Given the description of an element on the screen output the (x, y) to click on. 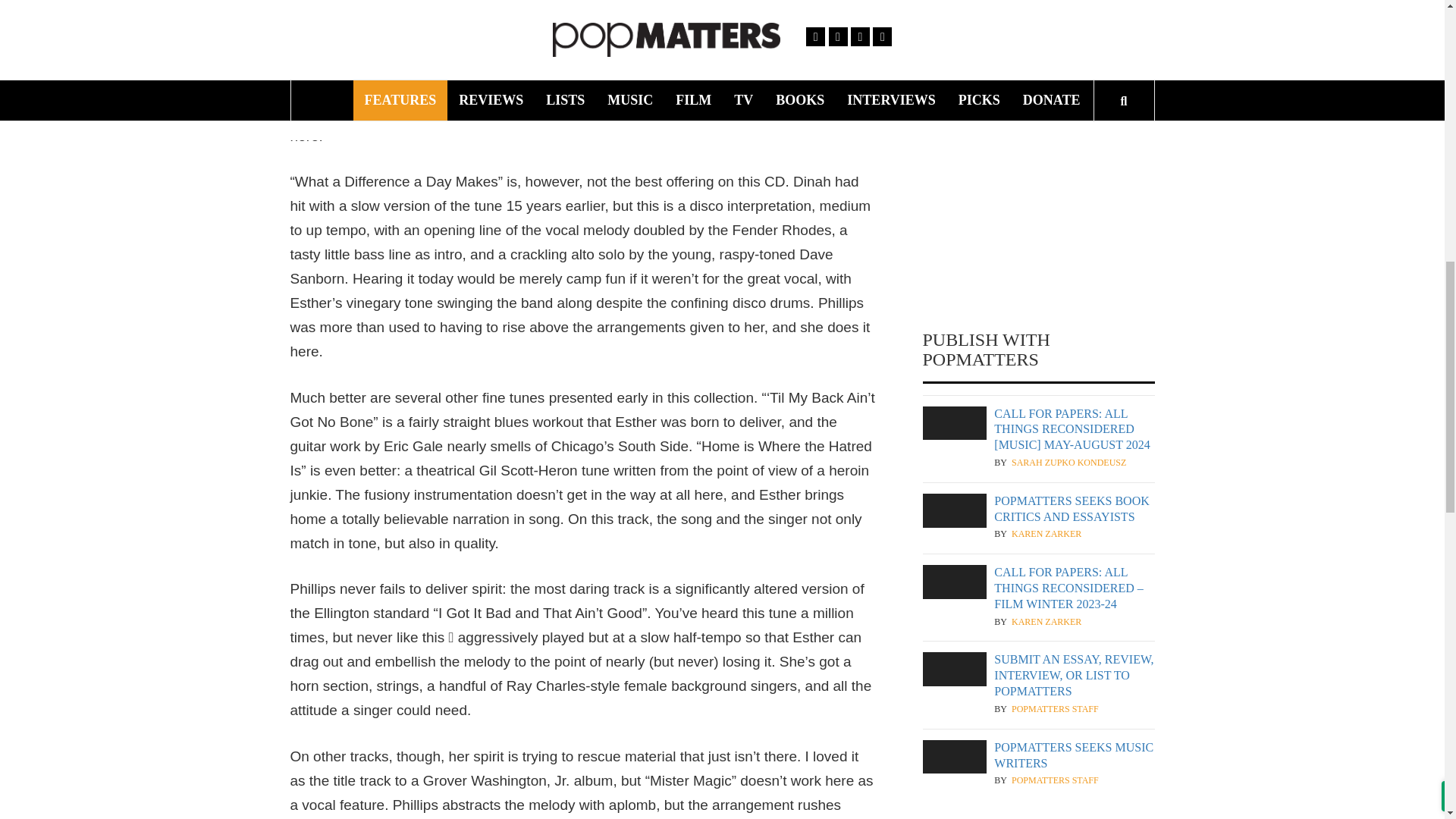
PopMatters Staff (1055, 708)
Hank Kennedy (1047, 94)
Karen Zarker (1046, 621)
Sarah Zupko Kondeusz (1068, 462)
Karen Zarker (1046, 533)
PopMatters Staff (1055, 780)
Evan Sawdey (1043, 7)
